Given the description of an element on the screen output the (x, y) to click on. 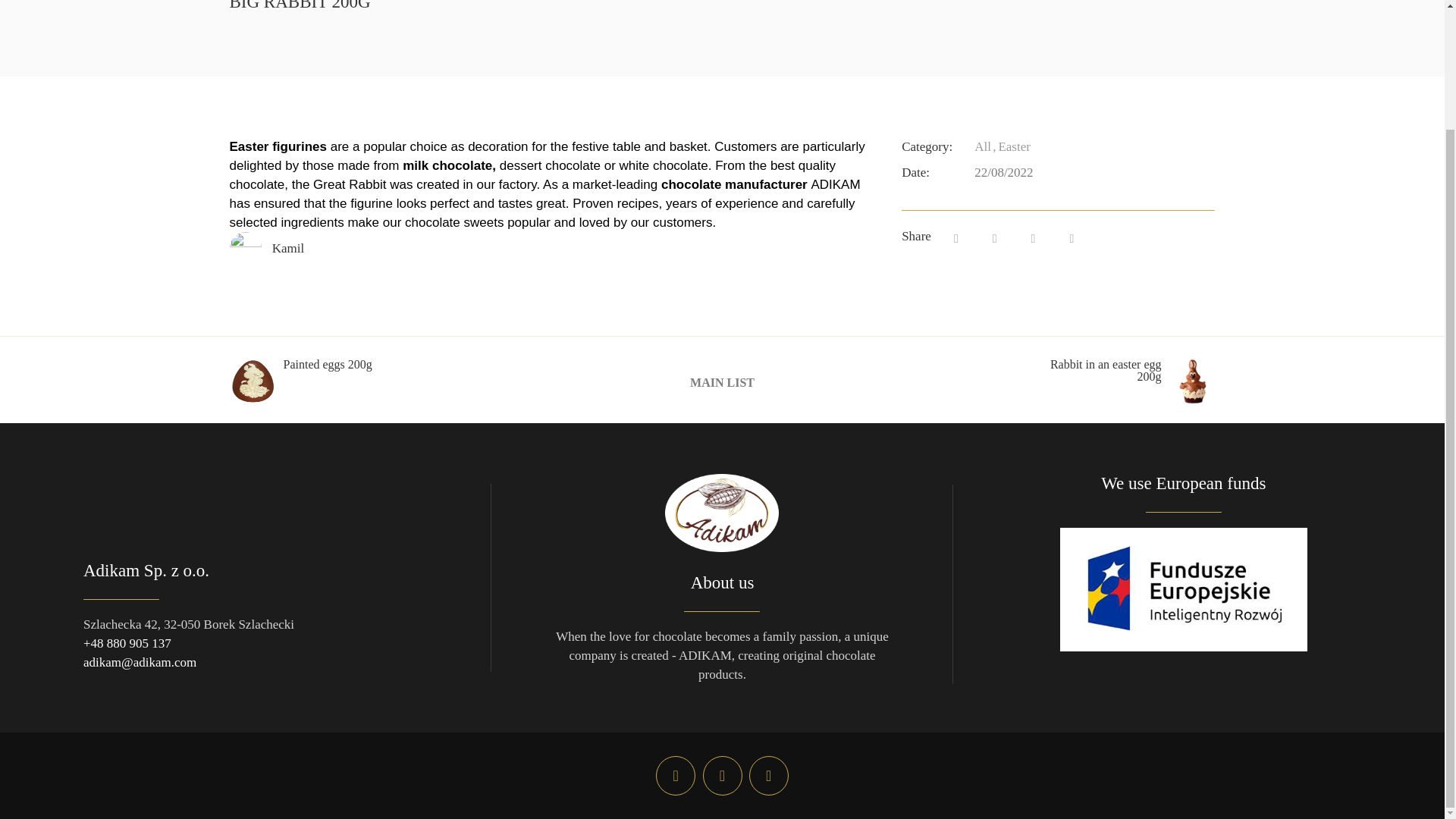
Painted eggs 200g (313, 381)
All (982, 146)
Kamil (288, 247)
Easter (1012, 146)
